Given the description of an element on the screen output the (x, y) to click on. 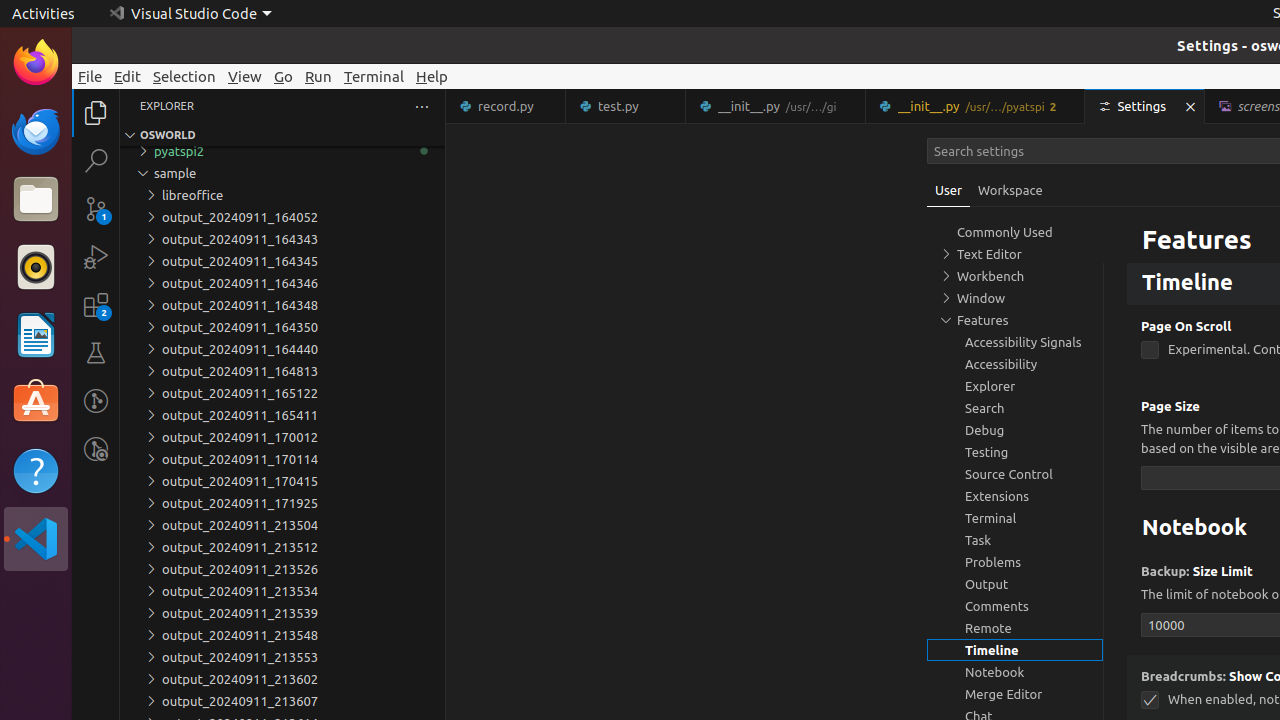
output_20240911_170012 Element type: tree-item (282, 437)
libreoffice Element type: tree-item (282, 195)
Notebook, group Element type: tree-item (1015, 672)
output_20240911_213526 Element type: tree-item (282, 569)
